Given the description of an element on the screen output the (x, y) to click on. 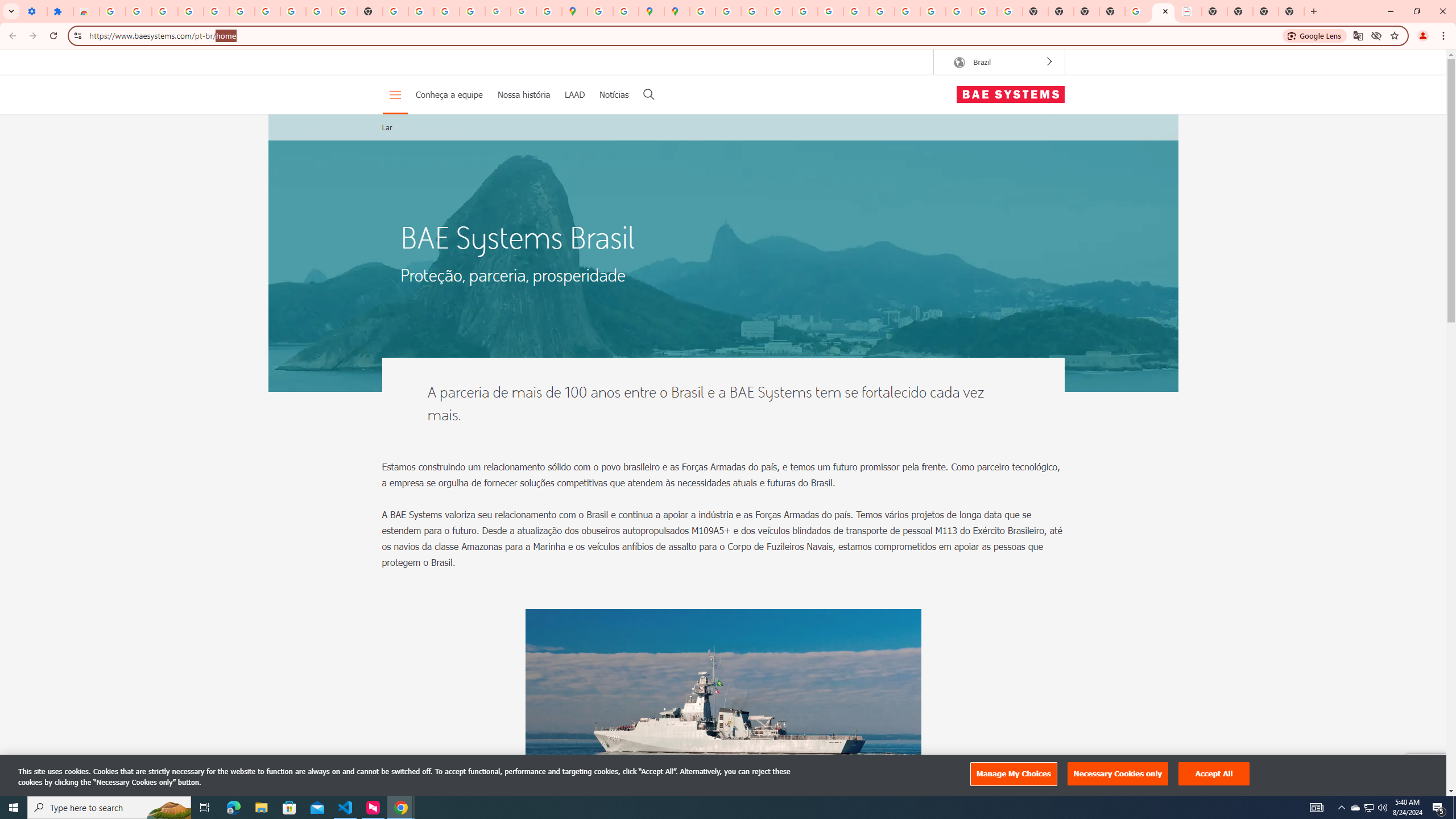
BAE Systems Brasil | BAE Systems (1162, 11)
LAAD (574, 94)
BAE Systems (1010, 94)
YouTube (855, 11)
Lar (387, 126)
Extensions (60, 11)
